Given the description of an element on the screen output the (x, y) to click on. 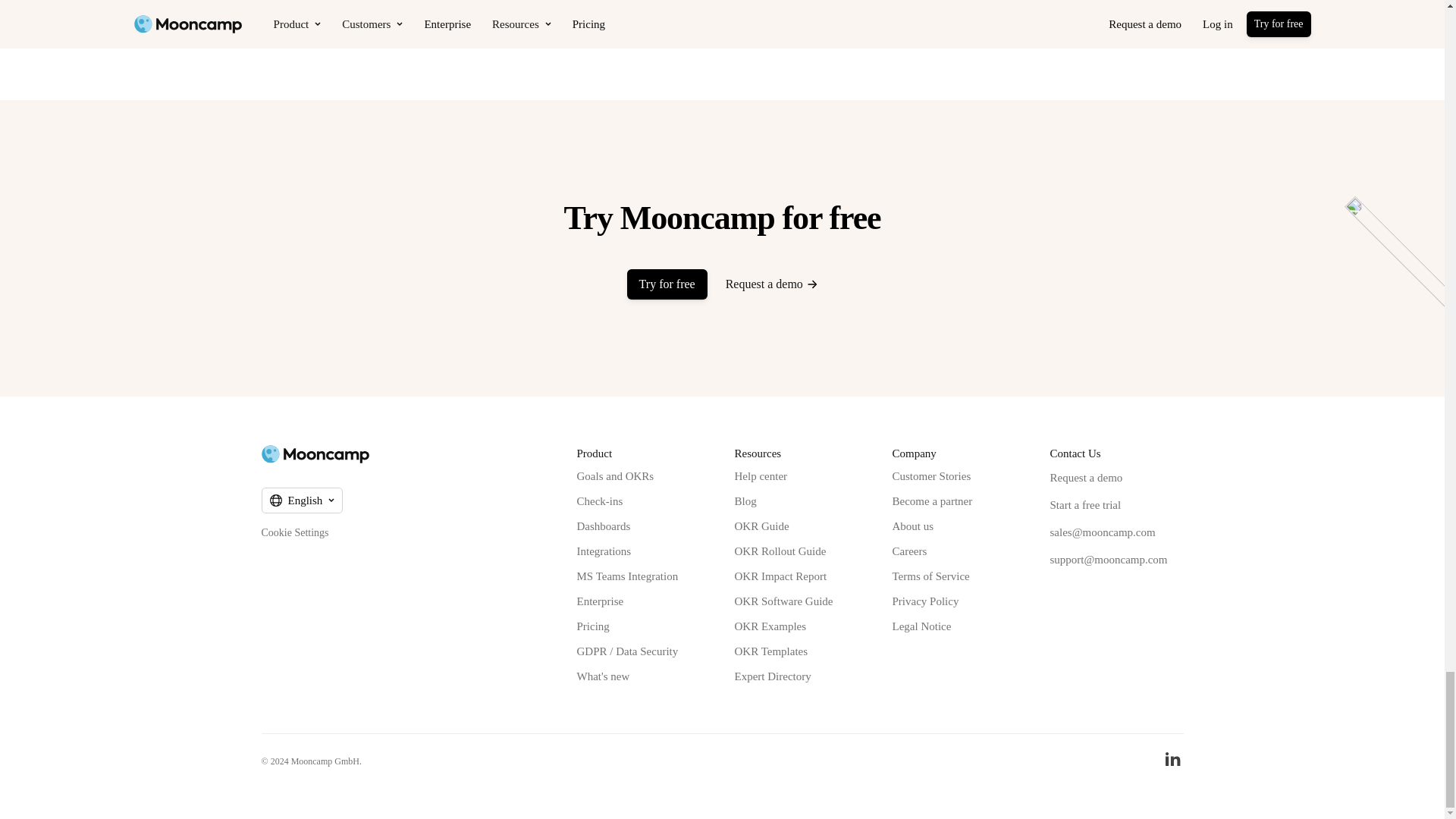
Check-ins (599, 500)
Dashboards (603, 526)
Try for free (667, 284)
Goals and OKRs (614, 476)
Request a demo (771, 284)
Try for free (667, 284)
Cookie Settings (294, 532)
English (301, 500)
Integrations (603, 551)
